Given the description of an element on the screen output the (x, y) to click on. 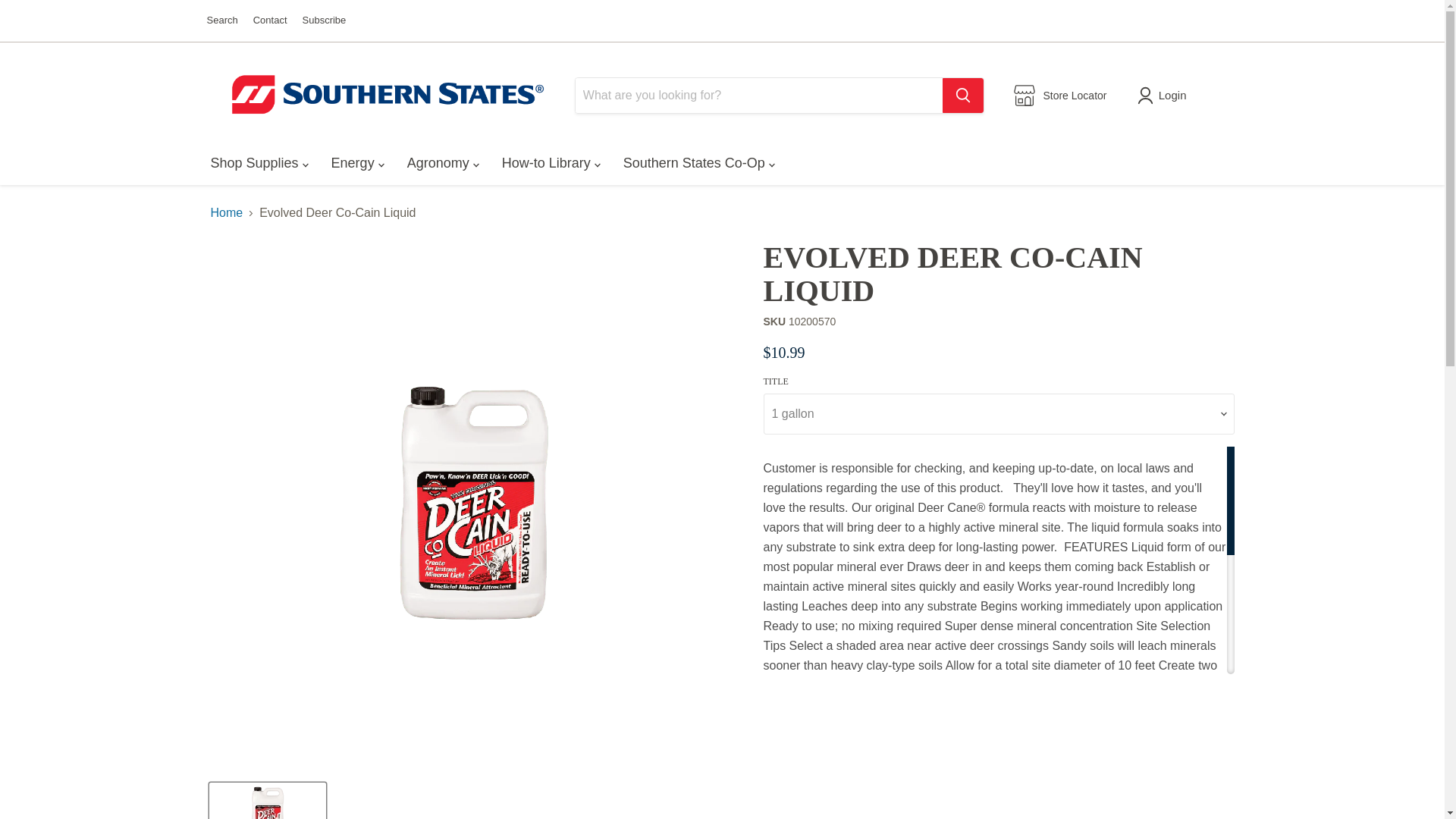
Search (221, 20)
Contact (269, 20)
Store Locator (1059, 95)
Subscribe (324, 20)
Login (1164, 95)
